Given the description of an element on the screen output the (x, y) to click on. 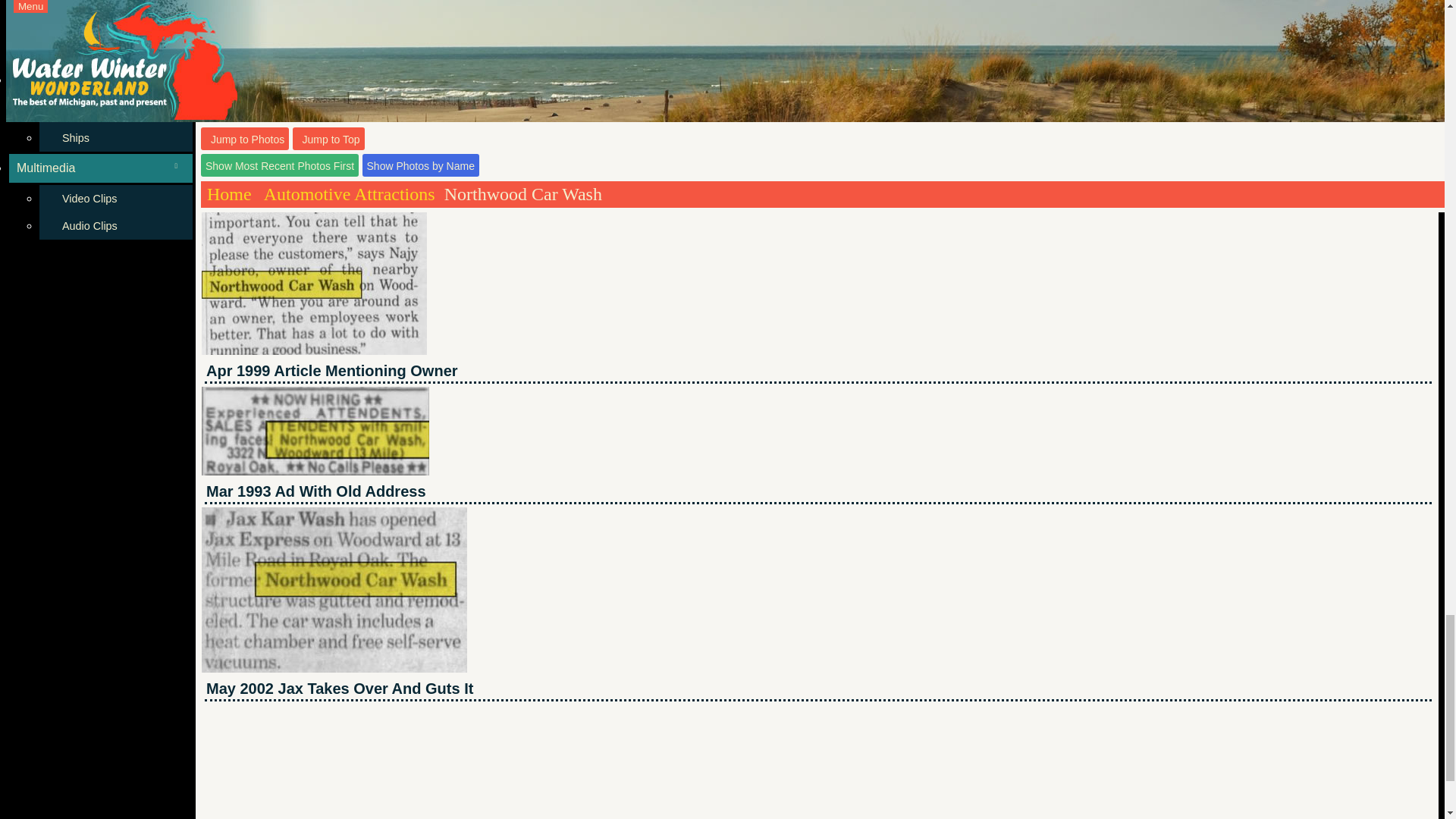
Northwood Car Wash - Jul 2001 Article (429, 67)
Northwood Car Wash - Mar 1993 Ad With Old Address (315, 430)
Northwood Car Wash - May 2002 Jax Takes Over And Guts It (334, 589)
Northwood Car Wash - Apr 1999 Article Mentioning Owner (314, 260)
